Given the description of an element on the screen output the (x, y) to click on. 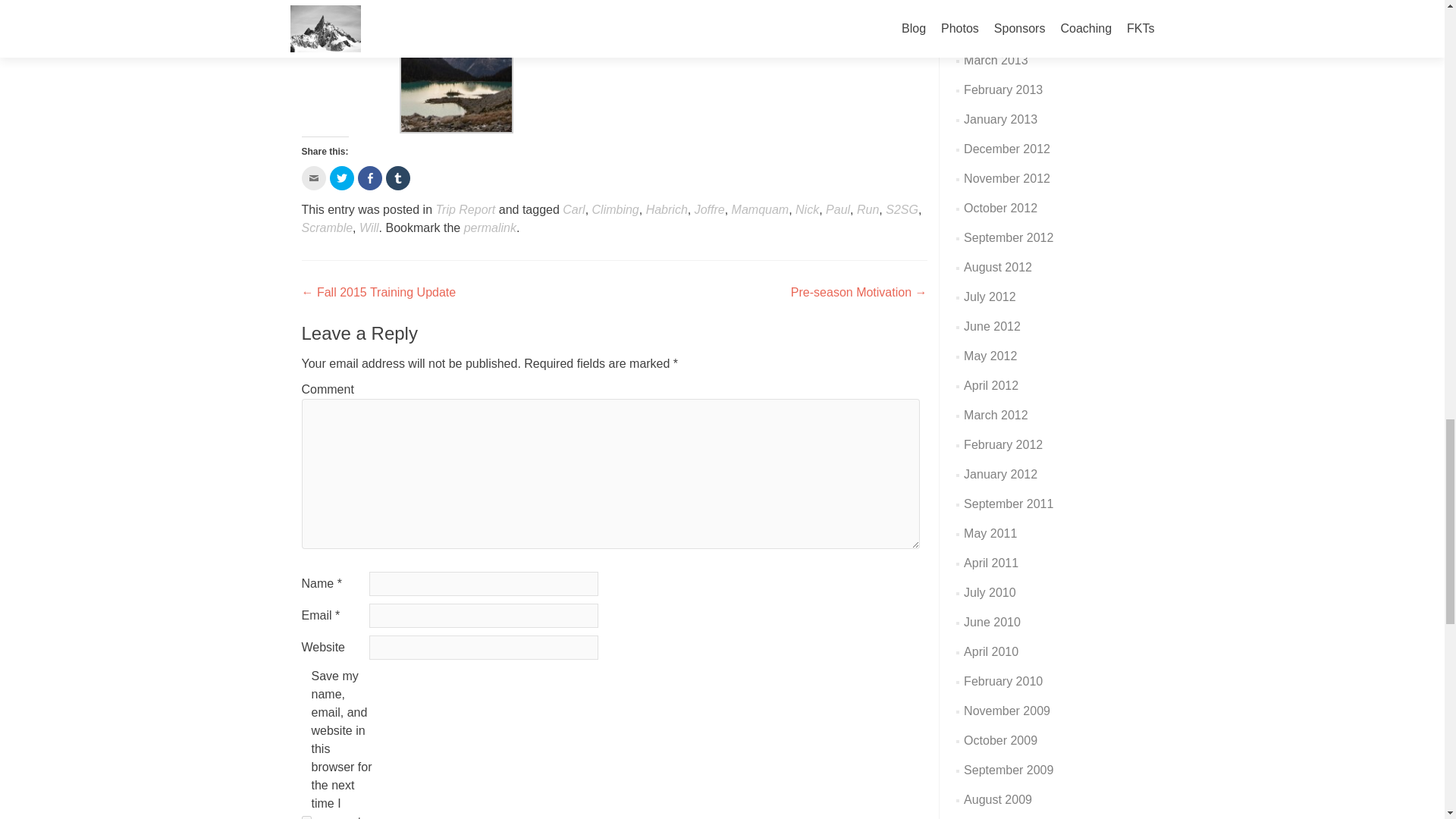
Climbing (615, 209)
Will (368, 227)
Run (868, 209)
Carl (573, 209)
Paul (837, 209)
Trip Report (465, 209)
Habrich (666, 209)
Click to email this to a friend (313, 178)
Joffre (709, 209)
S2SG (901, 209)
Click to share on Twitter (341, 178)
Nick (806, 209)
Scramble (327, 227)
Alpine Time (455, 74)
Mamquam (760, 209)
